Given the description of an element on the screen output the (x, y) to click on. 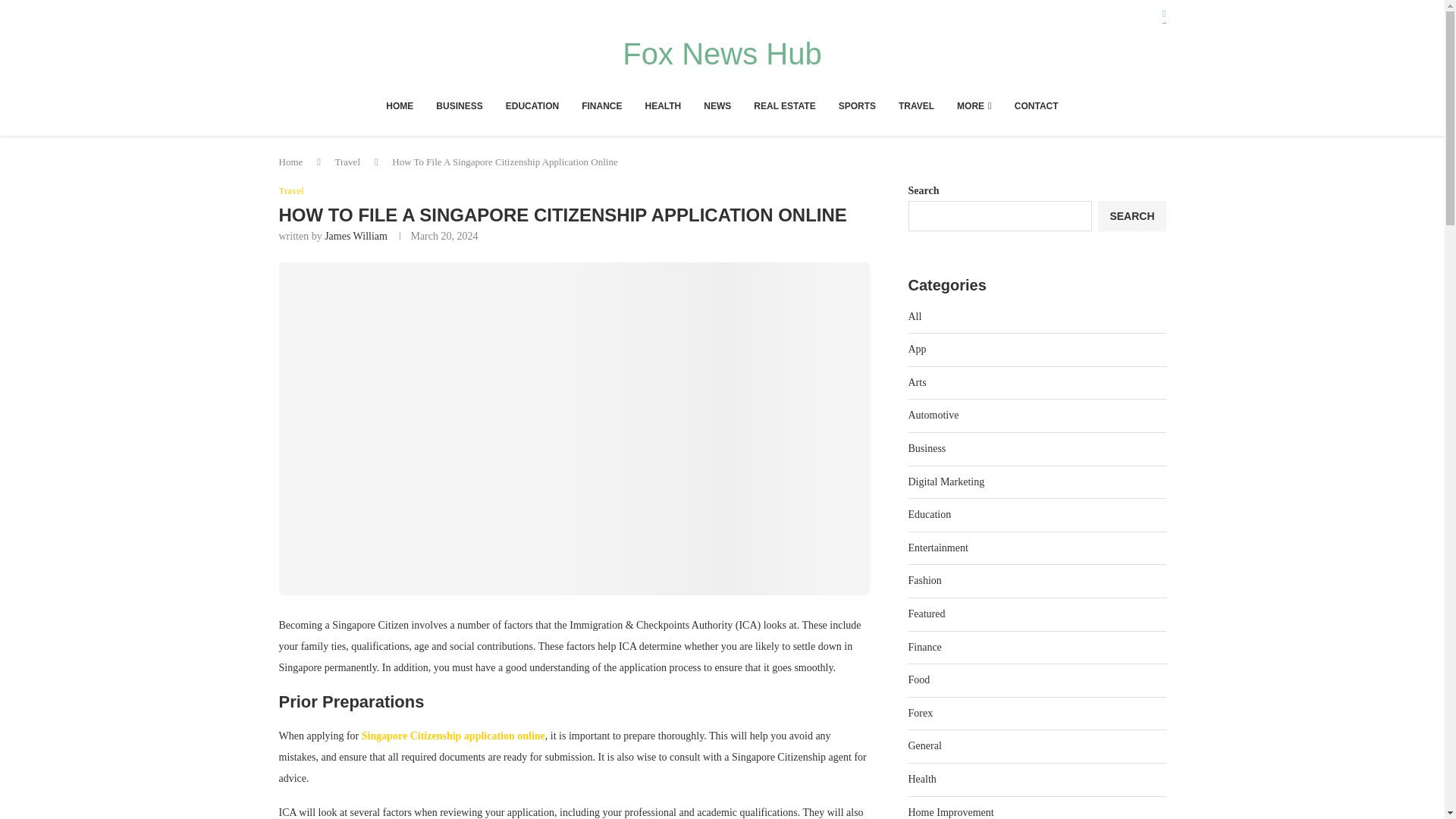
FINANCE (600, 105)
EDUCATION (532, 105)
Fox News Hub (722, 53)
BUSINESS (458, 105)
